Given the description of an element on the screen output the (x, y) to click on. 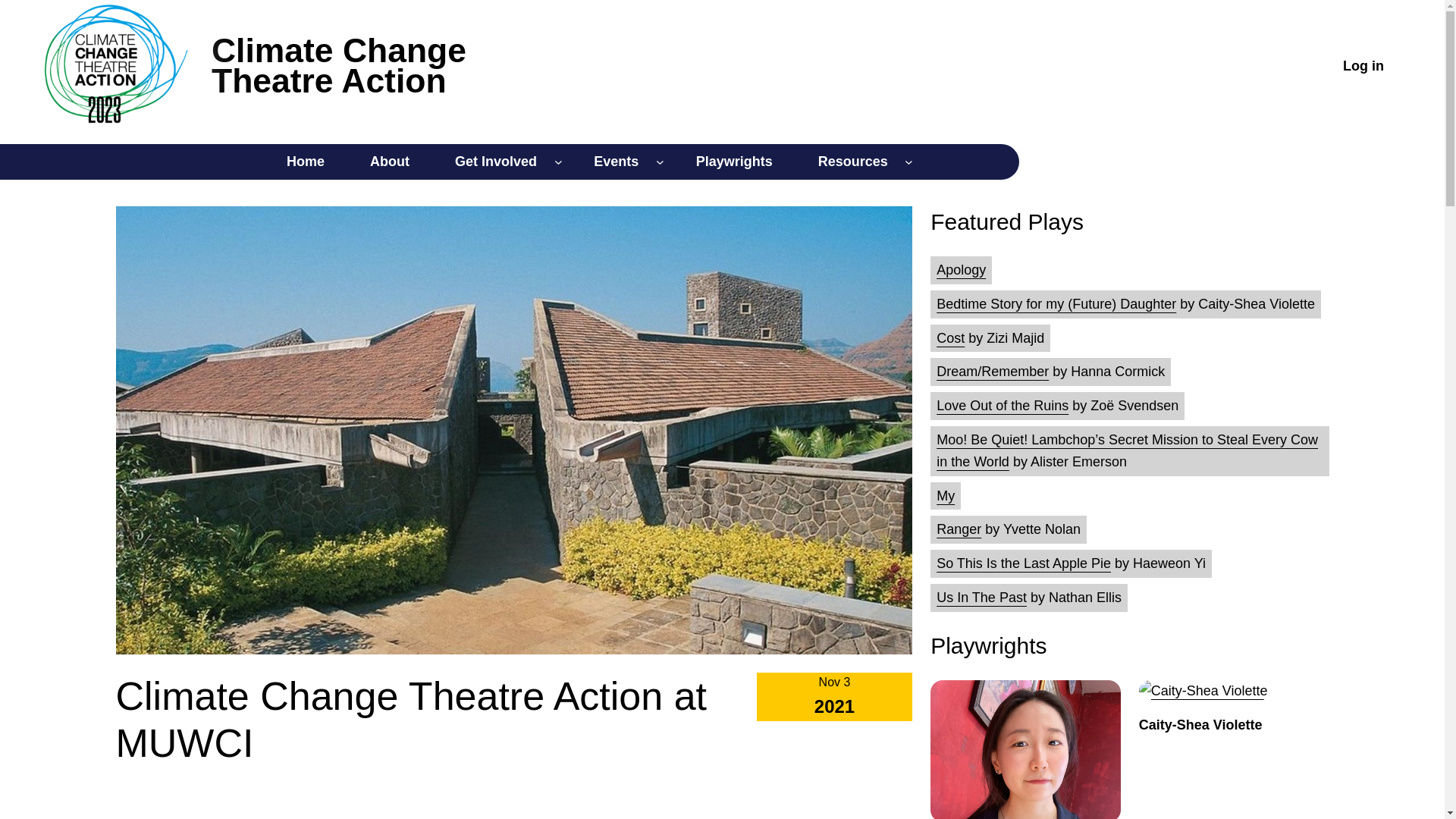
Home (305, 161)
About (338, 65)
Events (389, 161)
Playwrights (615, 161)
Log in (734, 161)
Get Involved (1363, 65)
Resources (495, 161)
